Given the description of an element on the screen output the (x, y) to click on. 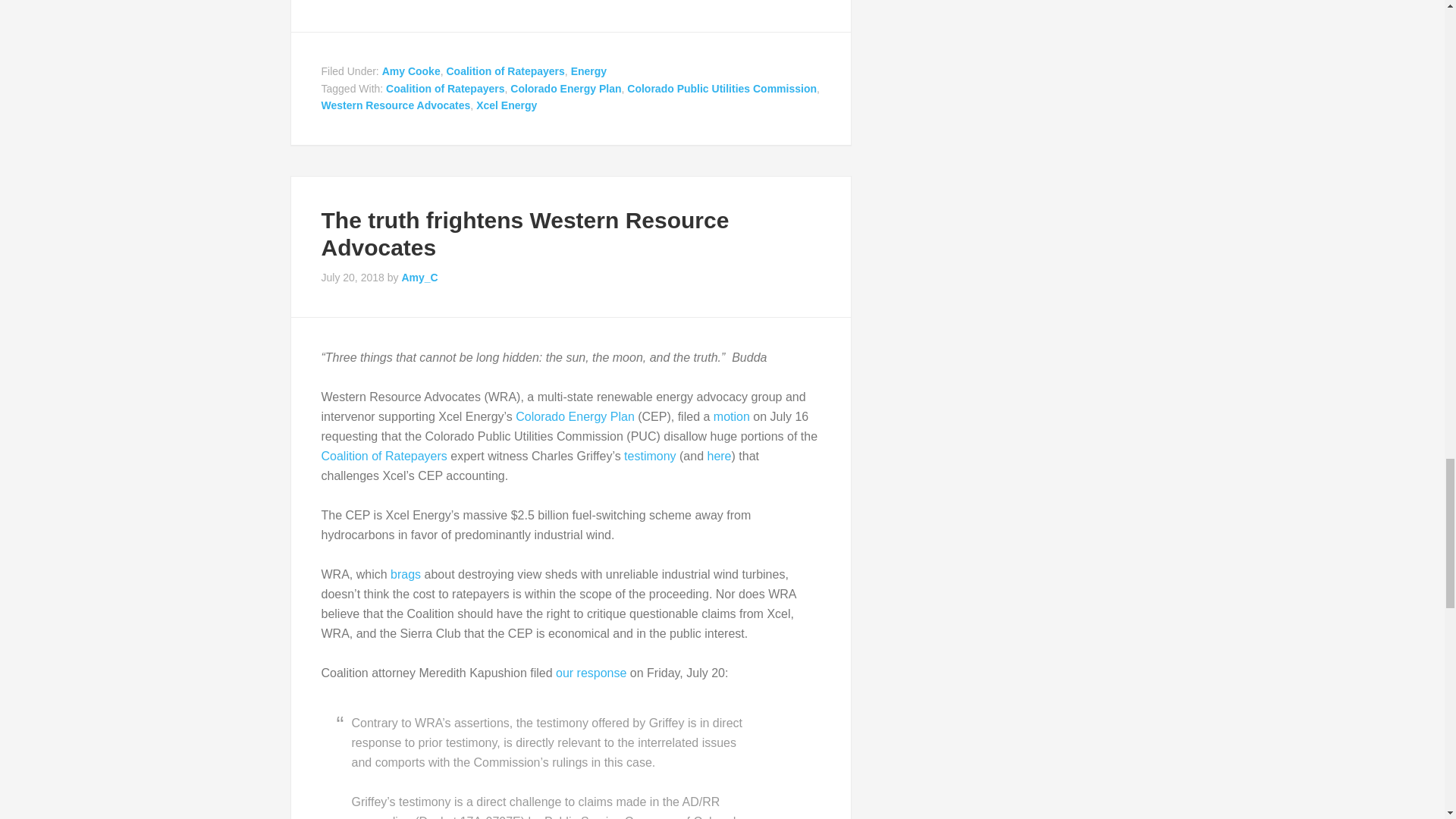
motion (731, 416)
Coalition of Ratepayers (504, 70)
The truth frightens Western Resource Advocates (525, 234)
Energy (588, 70)
Colorado Energy Plan (574, 416)
Xcel Energy (506, 105)
Colorado Energy Plan (566, 87)
Coalition of Ratepayers (444, 87)
Western Resource Advocates (395, 105)
Amy Cooke (411, 70)
